Given the description of an element on the screen output the (x, y) to click on. 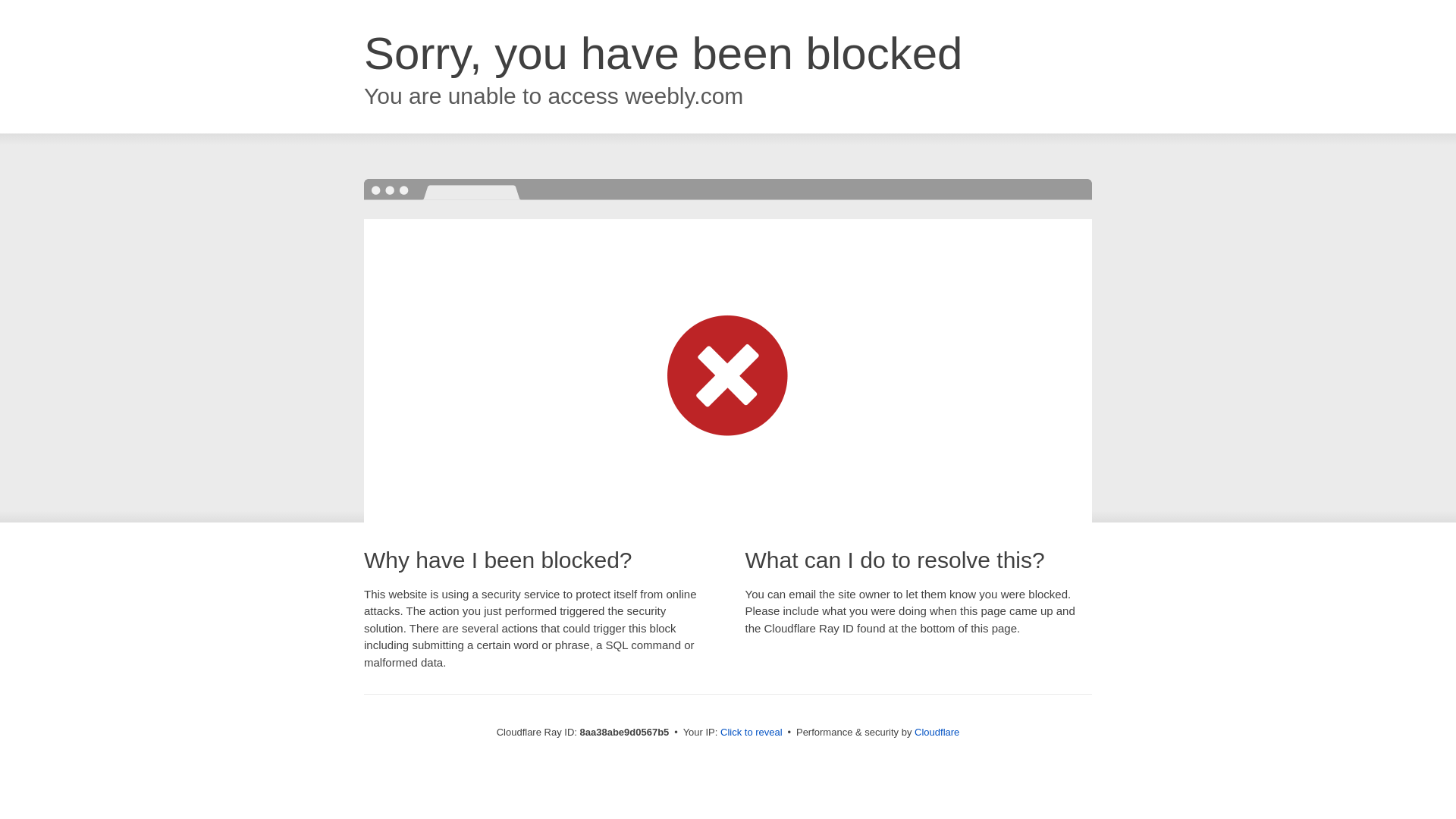
Click to reveal (751, 732)
Cloudflare (936, 731)
